Given the description of an element on the screen output the (x, y) to click on. 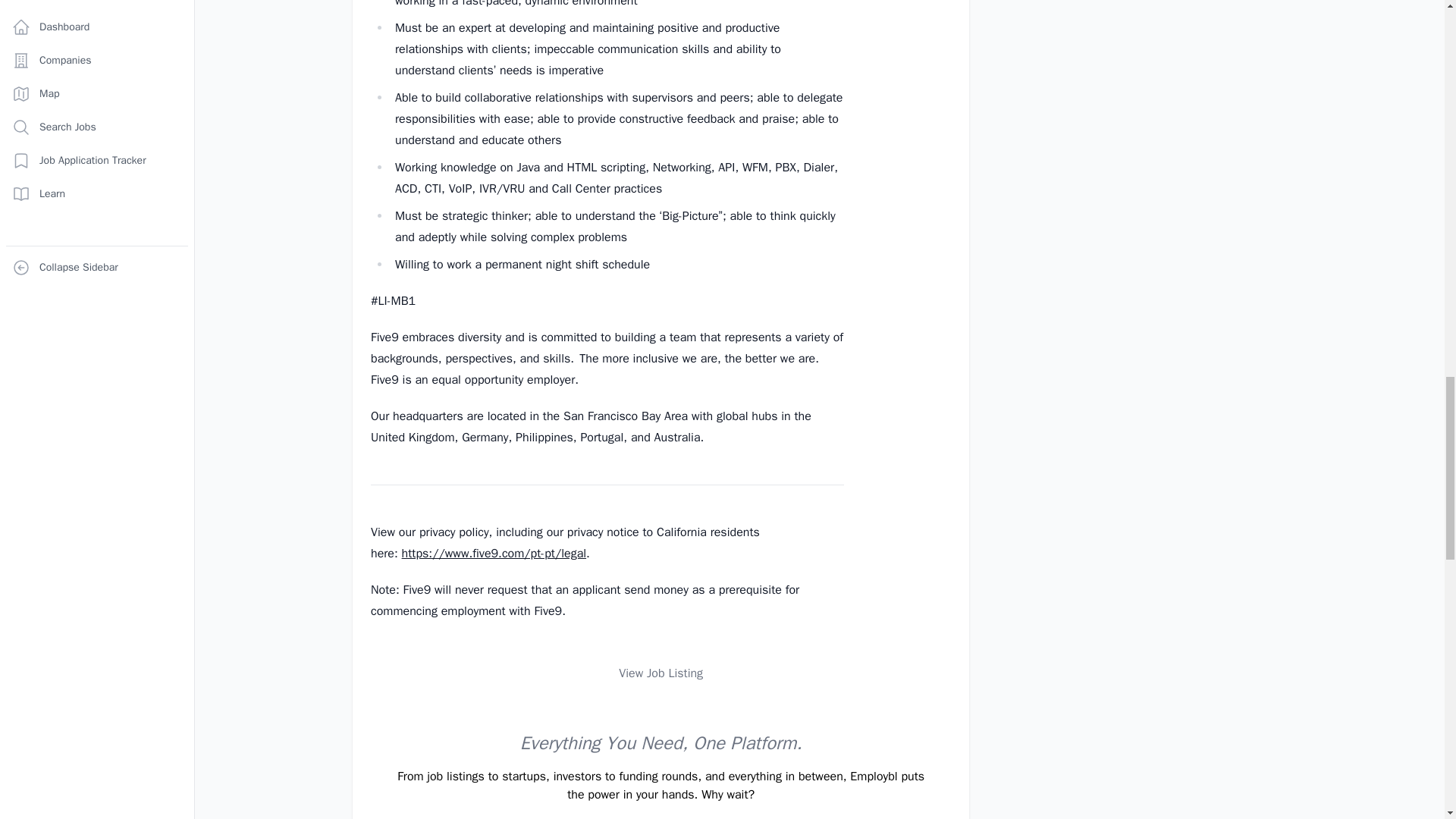
View Job Listing (660, 672)
